Given the description of an element on the screen output the (x, y) to click on. 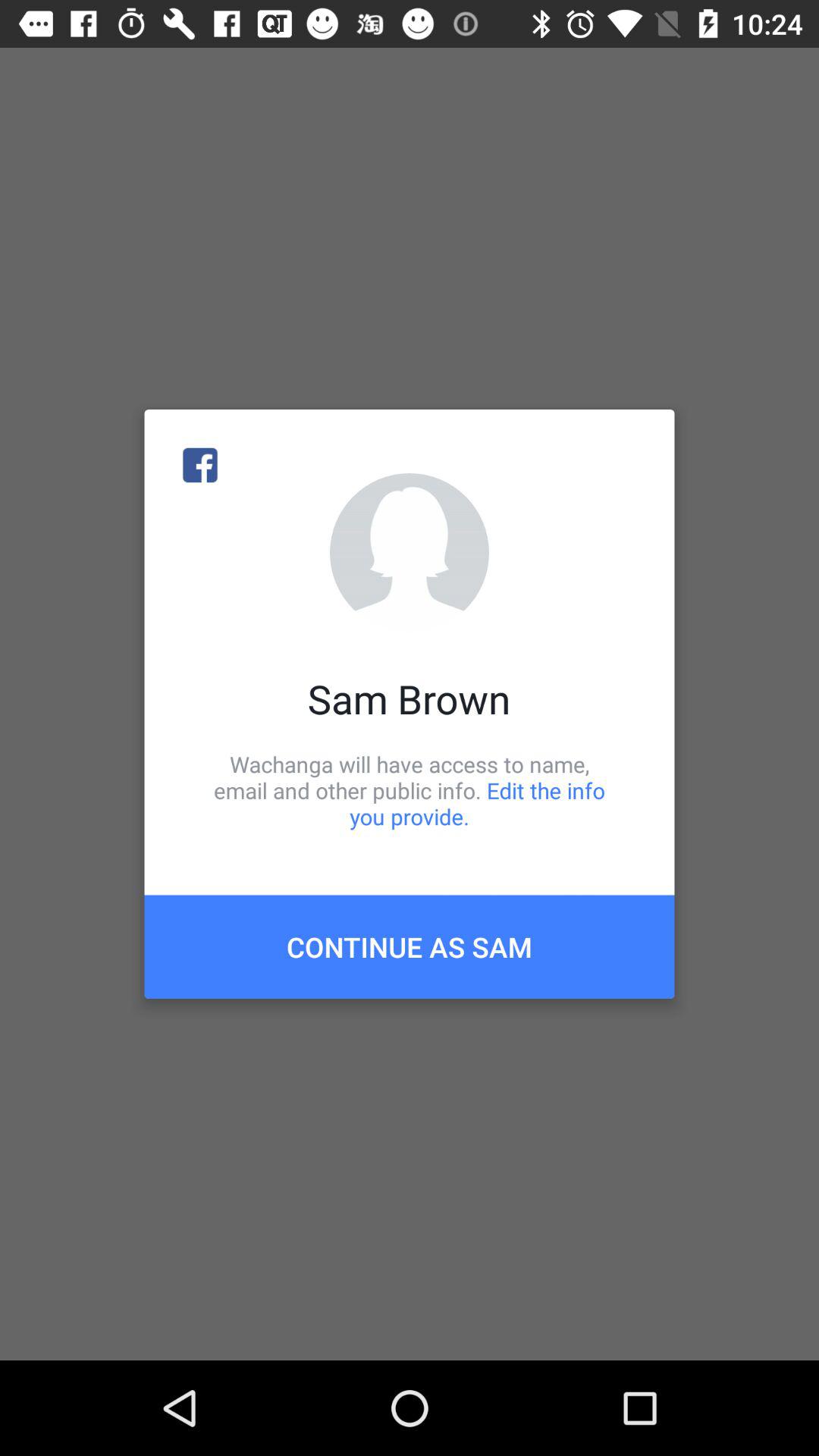
flip until wachanga will have icon (409, 790)
